Given the description of an element on the screen output the (x, y) to click on. 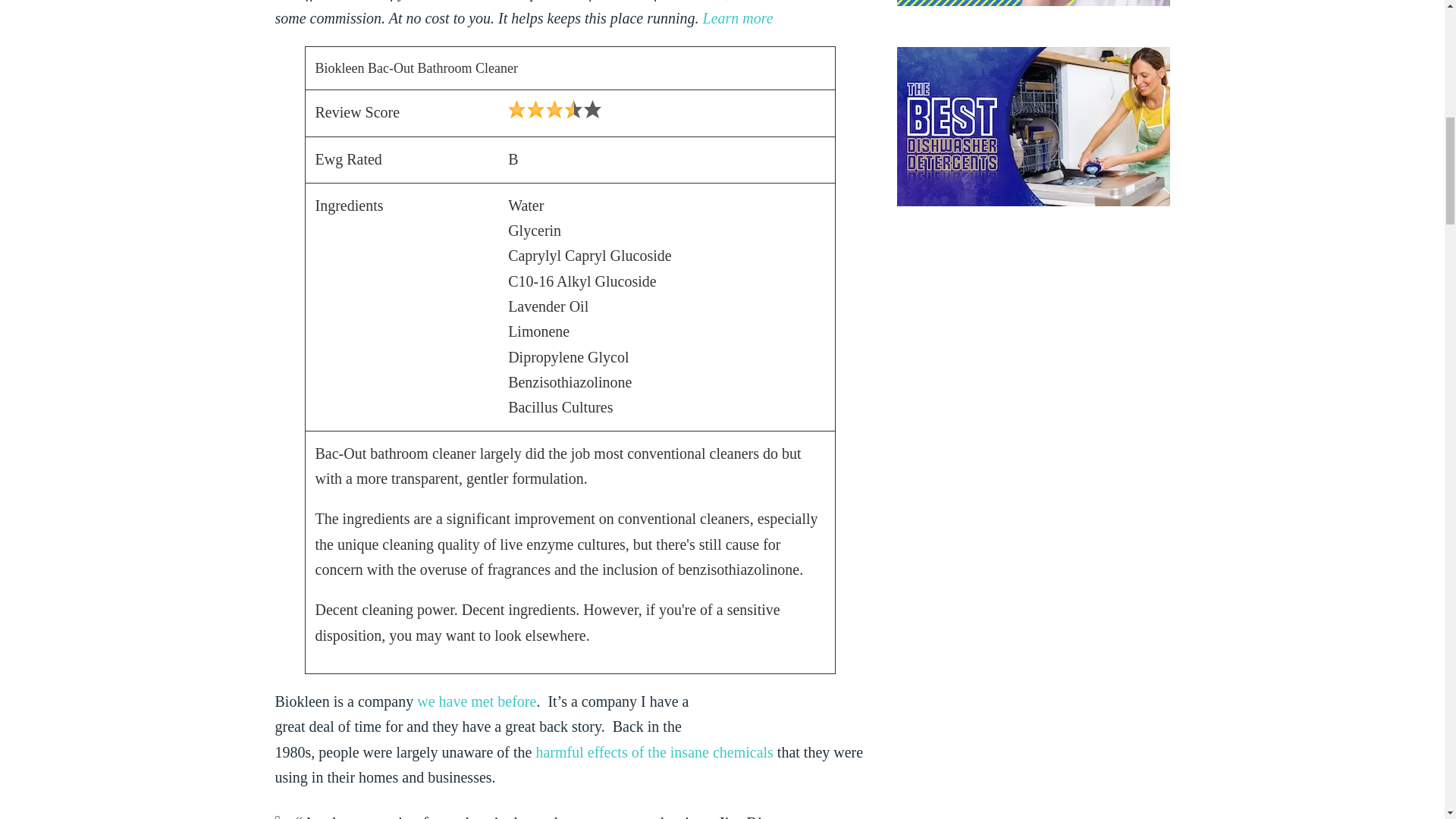
harmful effects of the insane chemicals (654, 751)
we have met before (475, 701)
Learn more (738, 17)
